Given the description of an element on the screen output the (x, y) to click on. 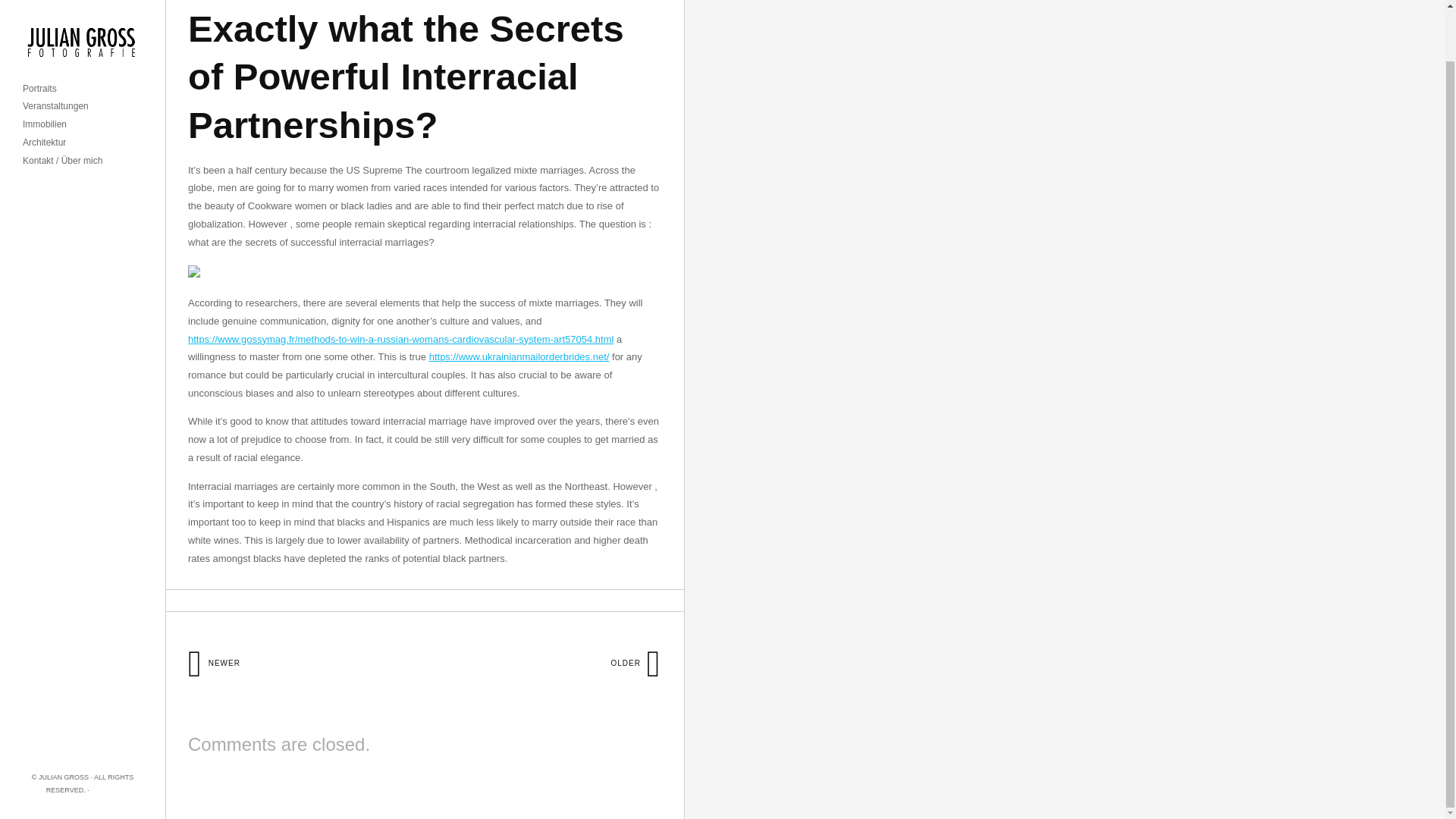
IMPRINT (104, 734)
NEWER (213, 663)
Portraits (39, 33)
Veranstaltungen (55, 51)
OLDER (636, 663)
Immobilien (44, 69)
Architektur (44, 87)
